Given the description of an element on the screen output the (x, y) to click on. 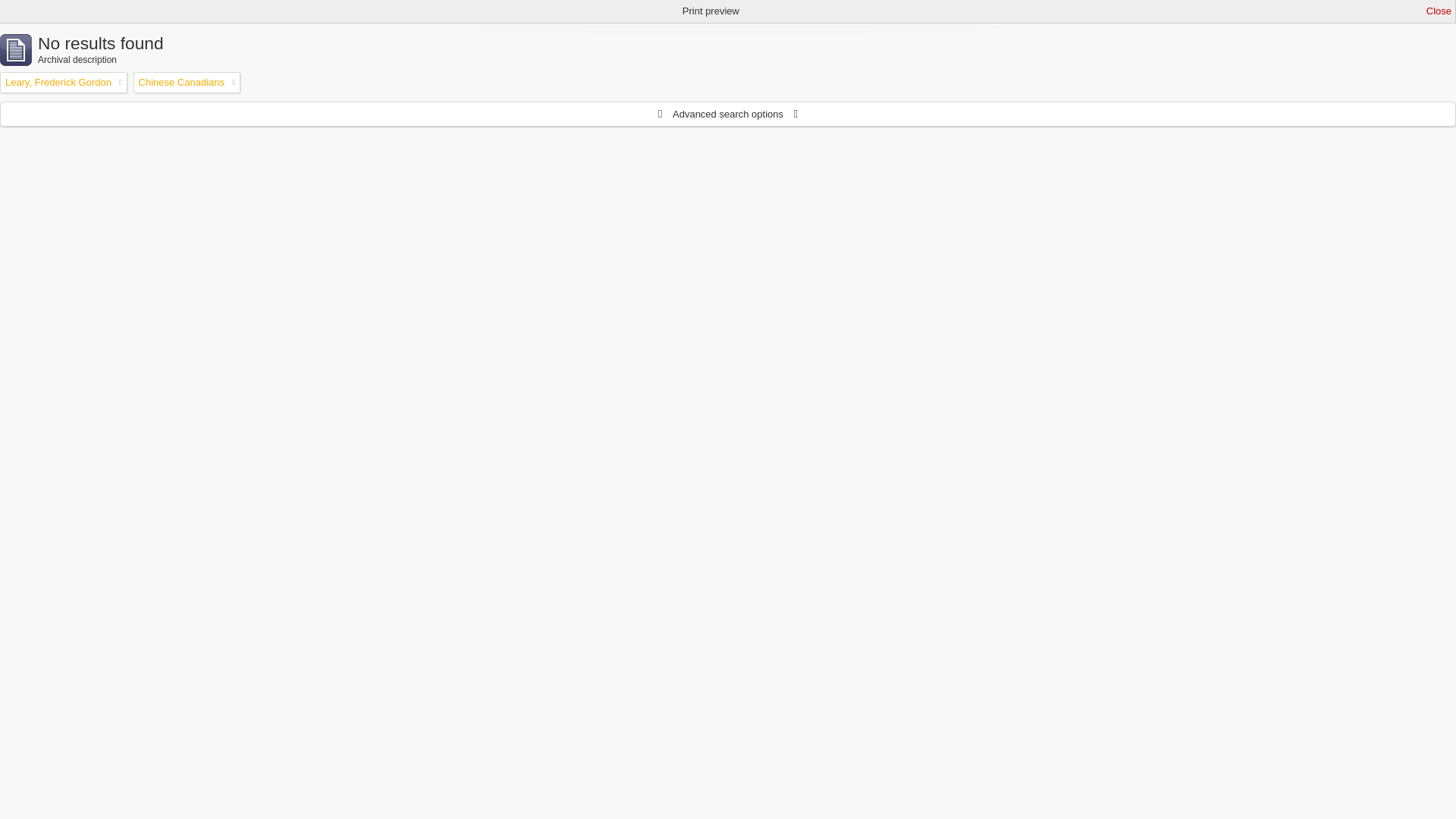
Close (1438, 11)
Advanced search options (727, 114)
Close (1438, 11)
